Given the description of an element on the screen output the (x, y) to click on. 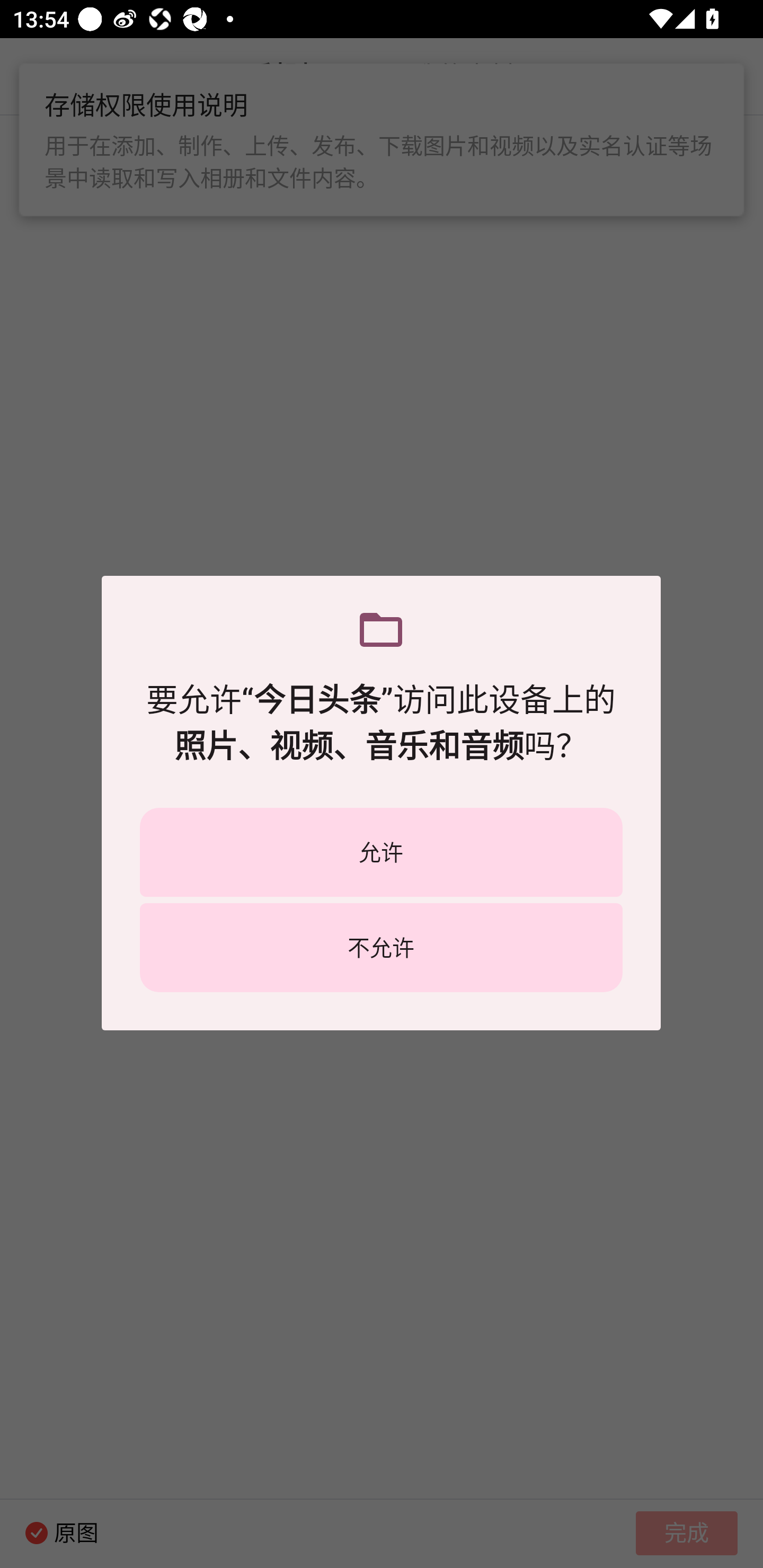
允许 (380, 851)
不允许 (380, 947)
